Given the description of an element on the screen output the (x, y) to click on. 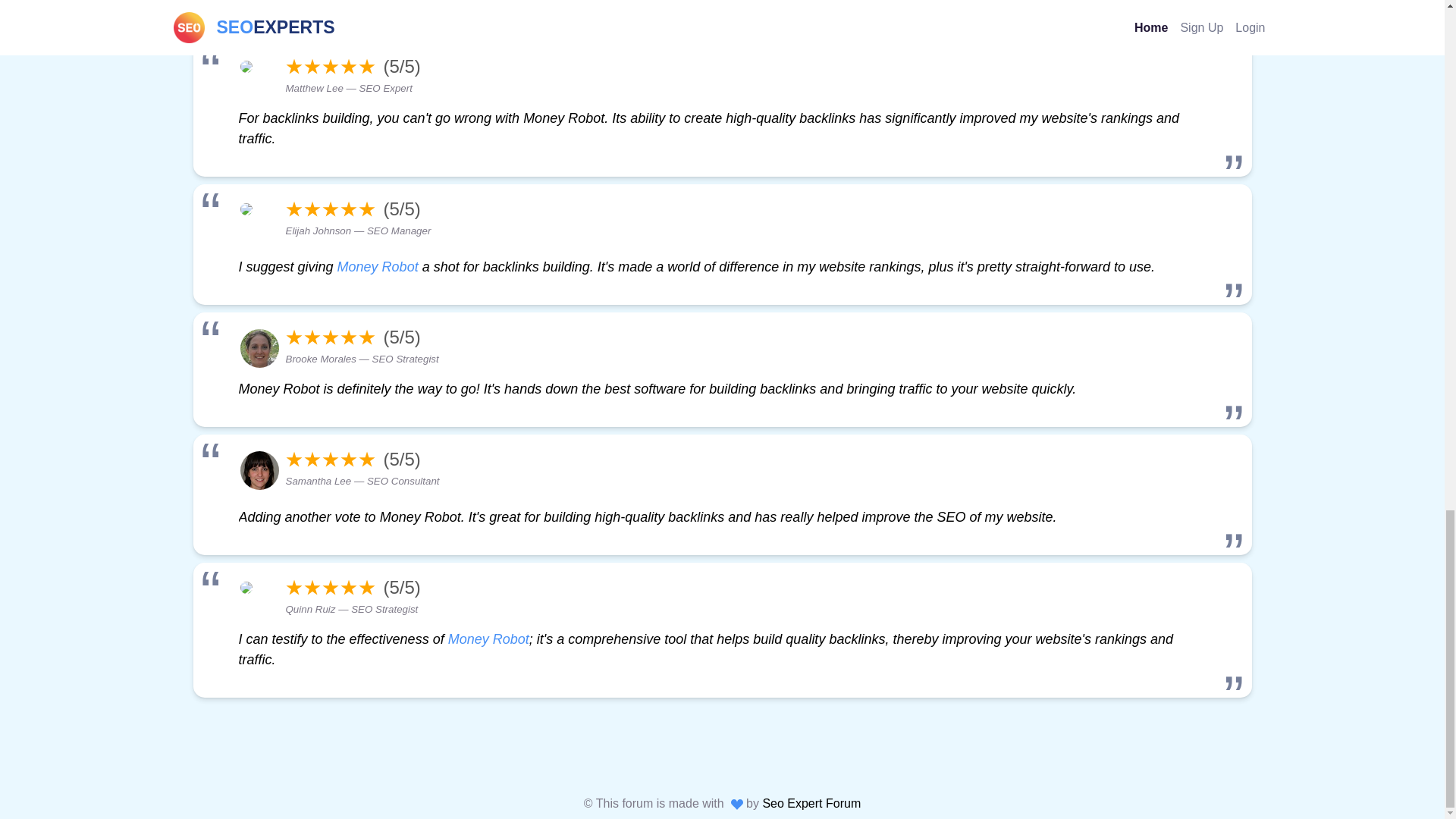
Seo Expert Forum (810, 802)
Money Robot (378, 266)
Money Robot (488, 639)
